Given the description of an element on the screen output the (x, y) to click on. 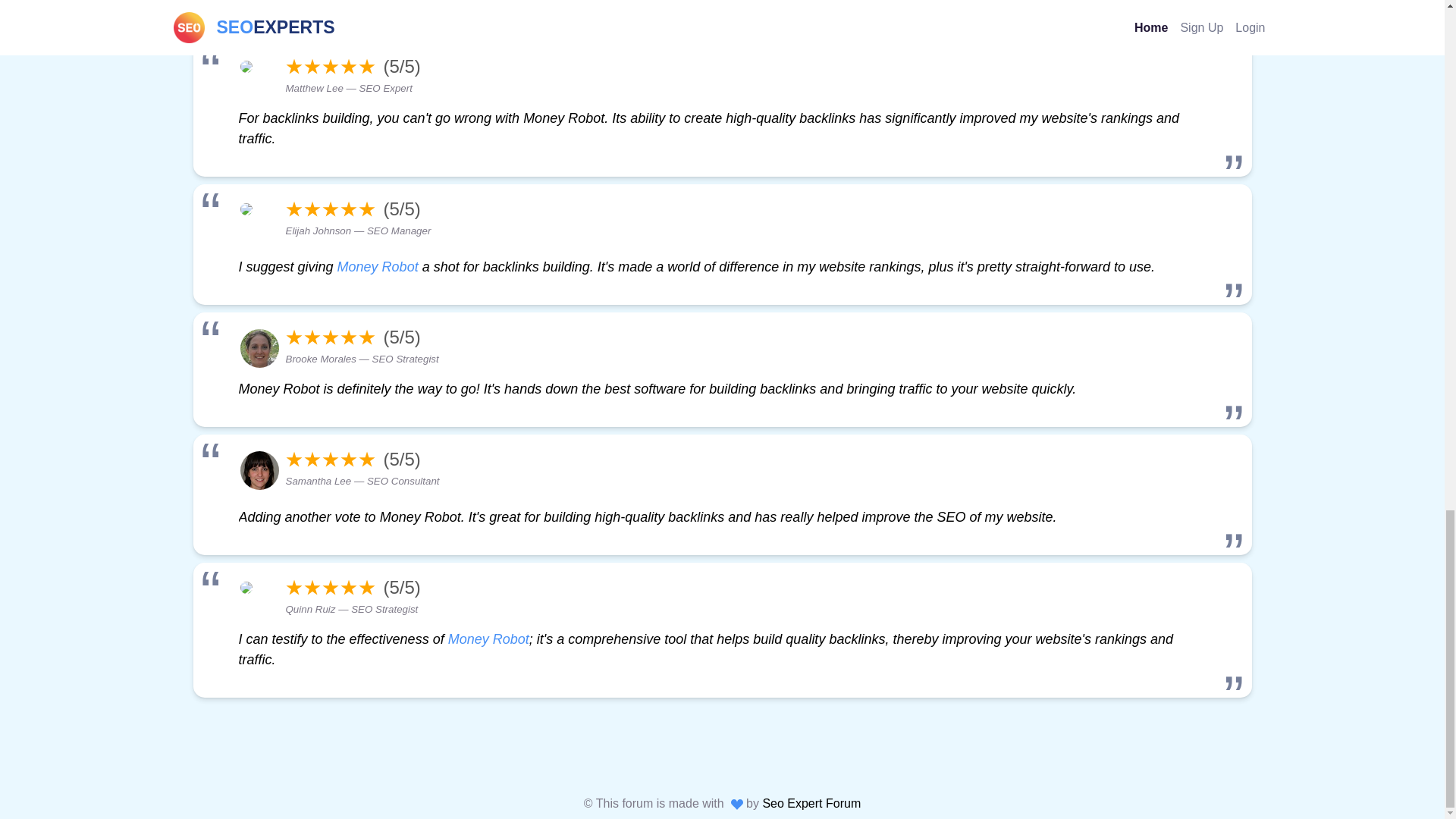
Seo Expert Forum (810, 802)
Money Robot (378, 266)
Money Robot (488, 639)
